Given the description of an element on the screen output the (x, y) to click on. 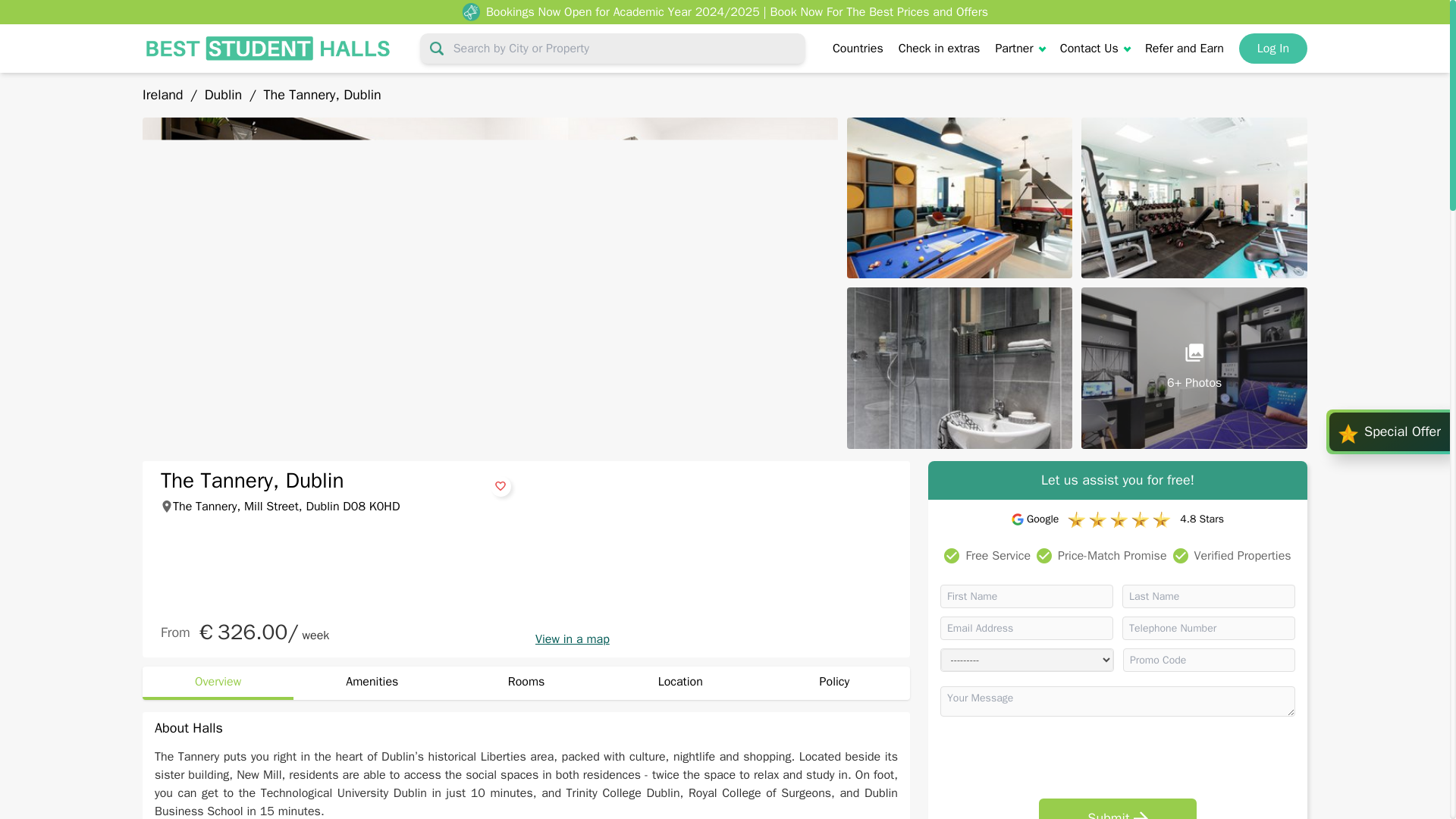
Policy (834, 683)
Rooms (525, 683)
Log In (1273, 48)
Countries (857, 48)
Contact Us (1094, 48)
Location (680, 683)
Overview (218, 683)
View in a map (713, 638)
Ireland (164, 94)
The Tannery, Dublin (321, 94)
